Given the description of an element on the screen output the (x, y) to click on. 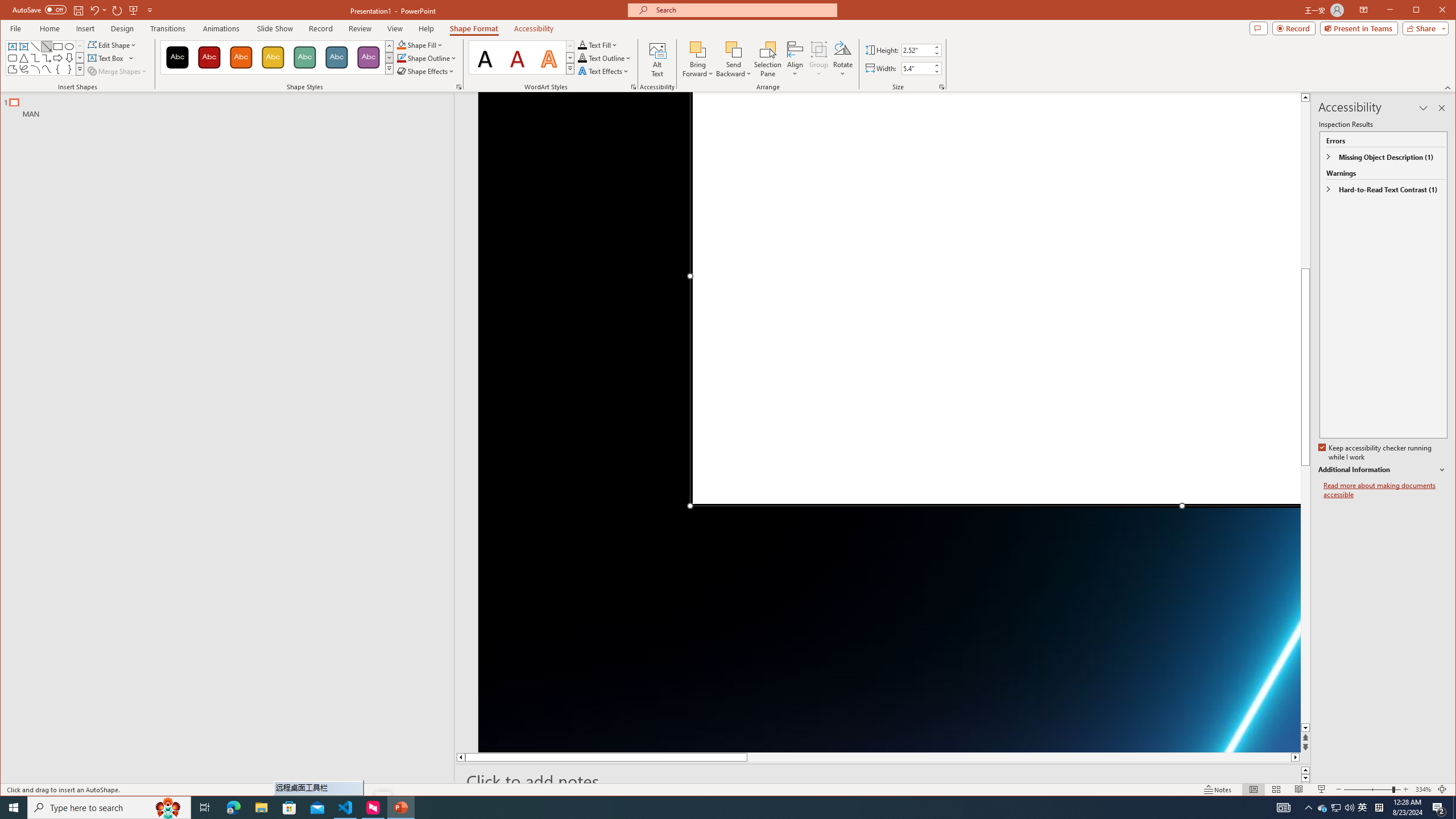
Arrow: Down (69, 57)
Text Outline RGB(0, 0, 0) (582, 57)
Search highlights icon opens search home window (167, 807)
PowerPoint - 1 running window (400, 807)
Notification Chevron (1308, 807)
Keep accessibility checker running while I work (1375, 452)
Rectangle (221, 436)
Vertical Text Box (23, 46)
Start (13, 807)
Less (935, 70)
Oval (69, 46)
